Given the description of an element on the screen output the (x, y) to click on. 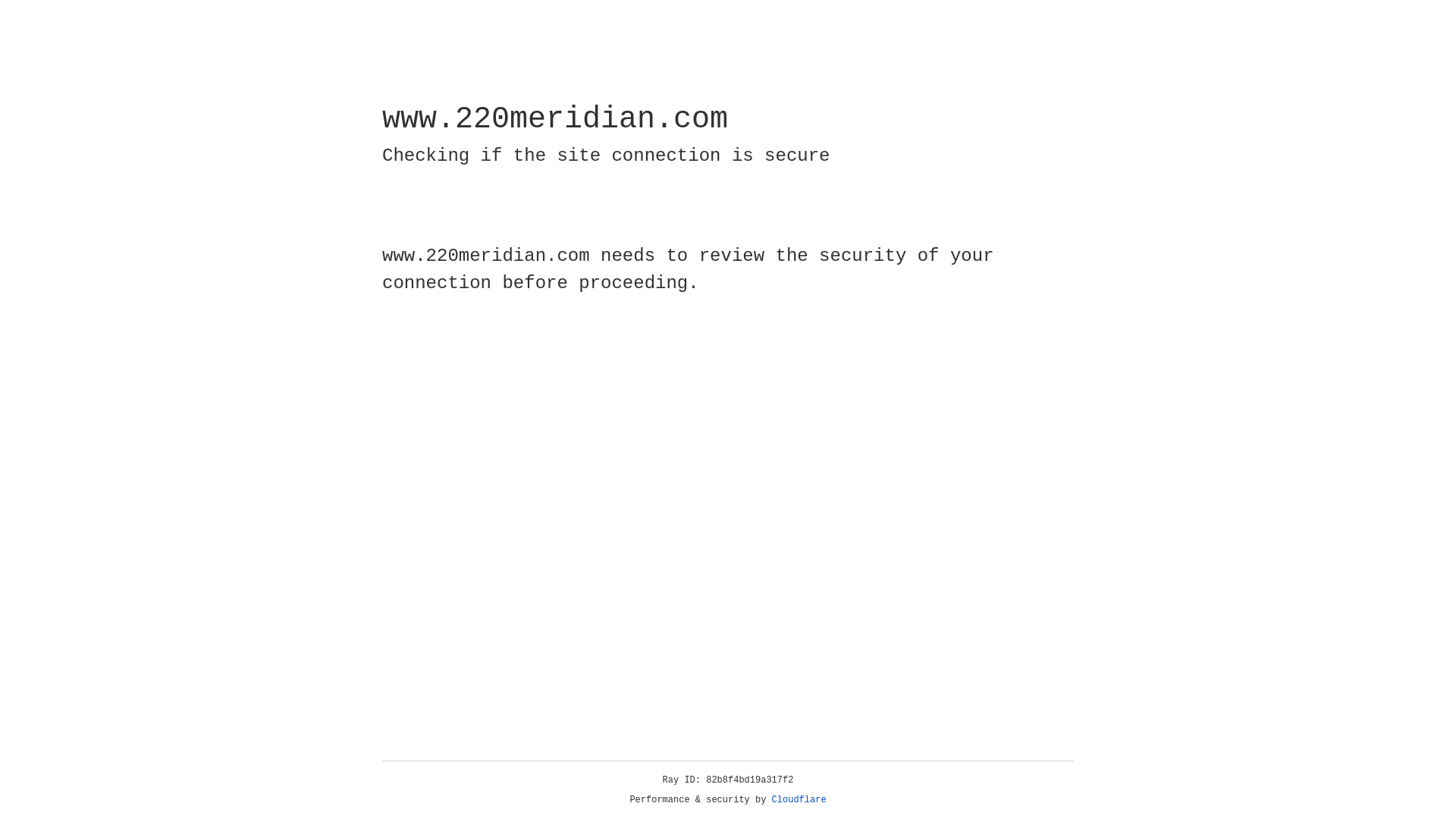
Cloudflare Element type: text (798, 799)
